Given the description of an element on the screen output the (x, y) to click on. 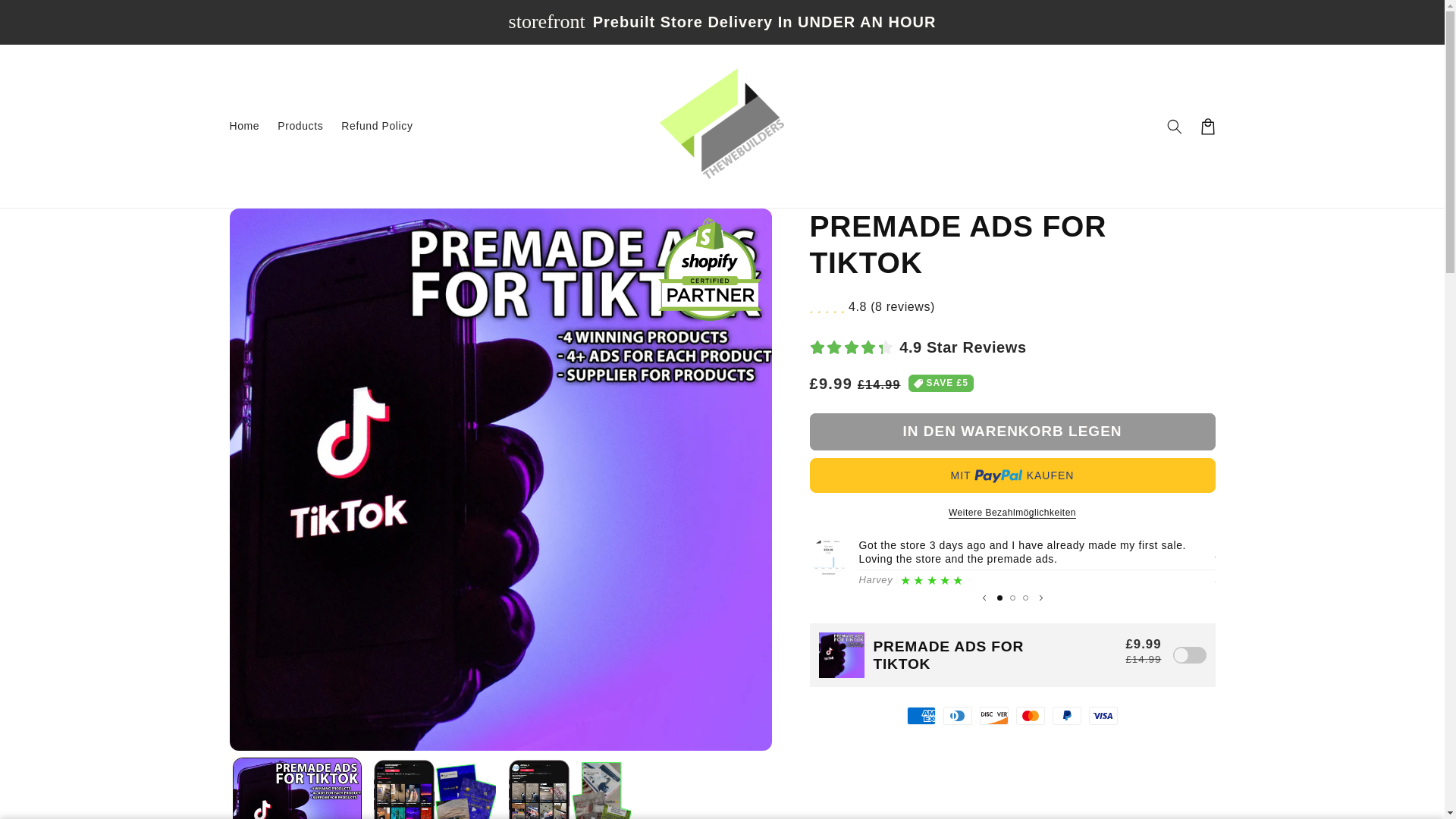
Products (299, 125)
Zu Produktinformationen springen (275, 226)
Direkt zum Inhalt (46, 18)
IN DEN WARENKORB LEGEN (1012, 431)
Home (243, 125)
Warenkorb (1207, 125)
Refund Policy (376, 125)
